Given the description of an element on the screen output the (x, y) to click on. 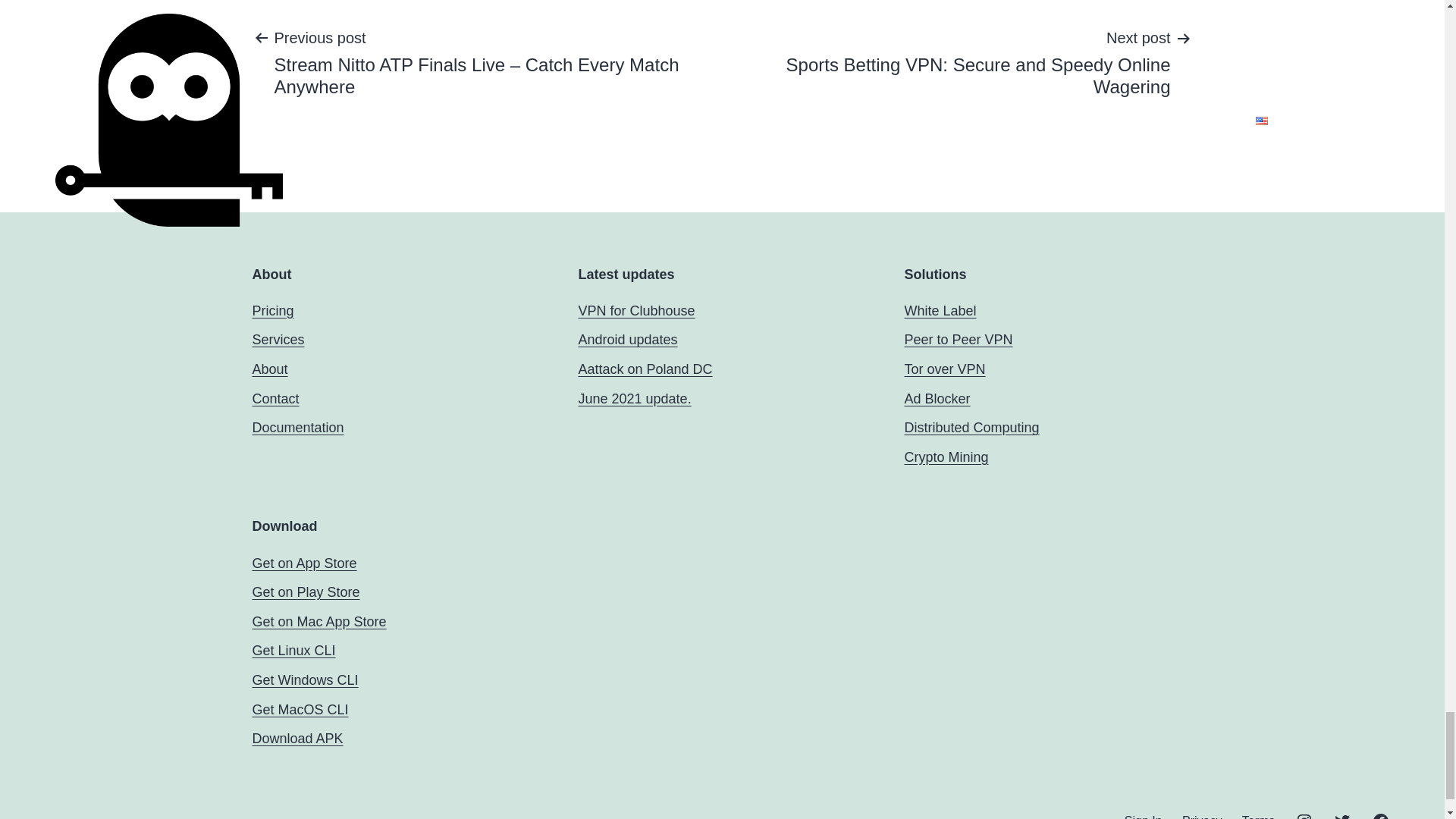
Tor over VPN (944, 368)
Get MacOS CLI (299, 709)
Download APK (296, 738)
Services (277, 339)
Aattack on Poland DC (644, 368)
Get Linux CLI (292, 650)
White Label (939, 310)
Peer to Peer VPN (957, 339)
June 2021 update. (634, 398)
About (268, 368)
Get on Play Store (305, 591)
VPN for Clubhouse (636, 310)
Get on Mac App Store (318, 621)
Documentation (297, 427)
